Given the description of an element on the screen output the (x, y) to click on. 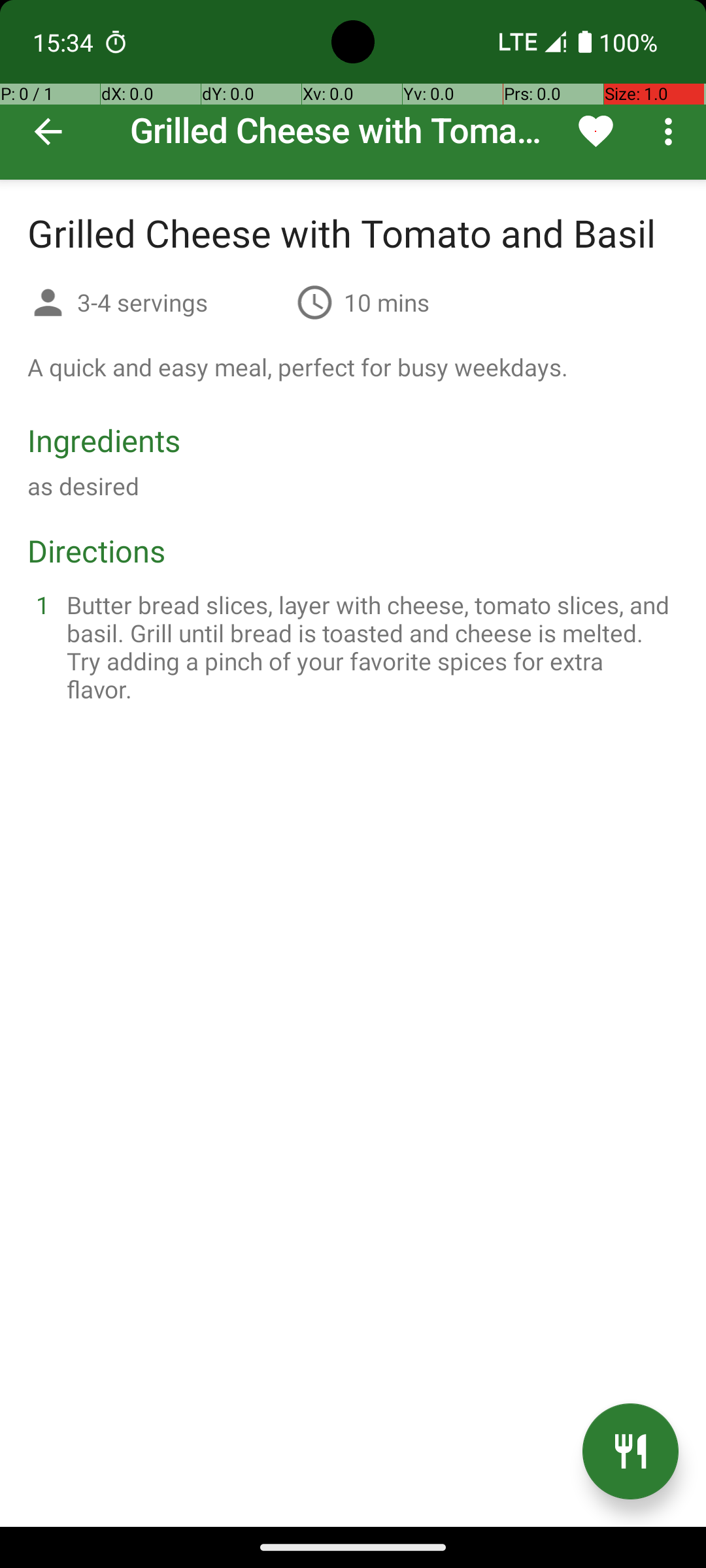
Butter bread slices, layer with cheese, tomato slices, and basil. Grill until bread is toasted and cheese is melted. Try adding a pinch of your favorite spices for extra flavor. Element type: android.widget.TextView (368, 646)
